Given the description of an element on the screen output the (x, y) to click on. 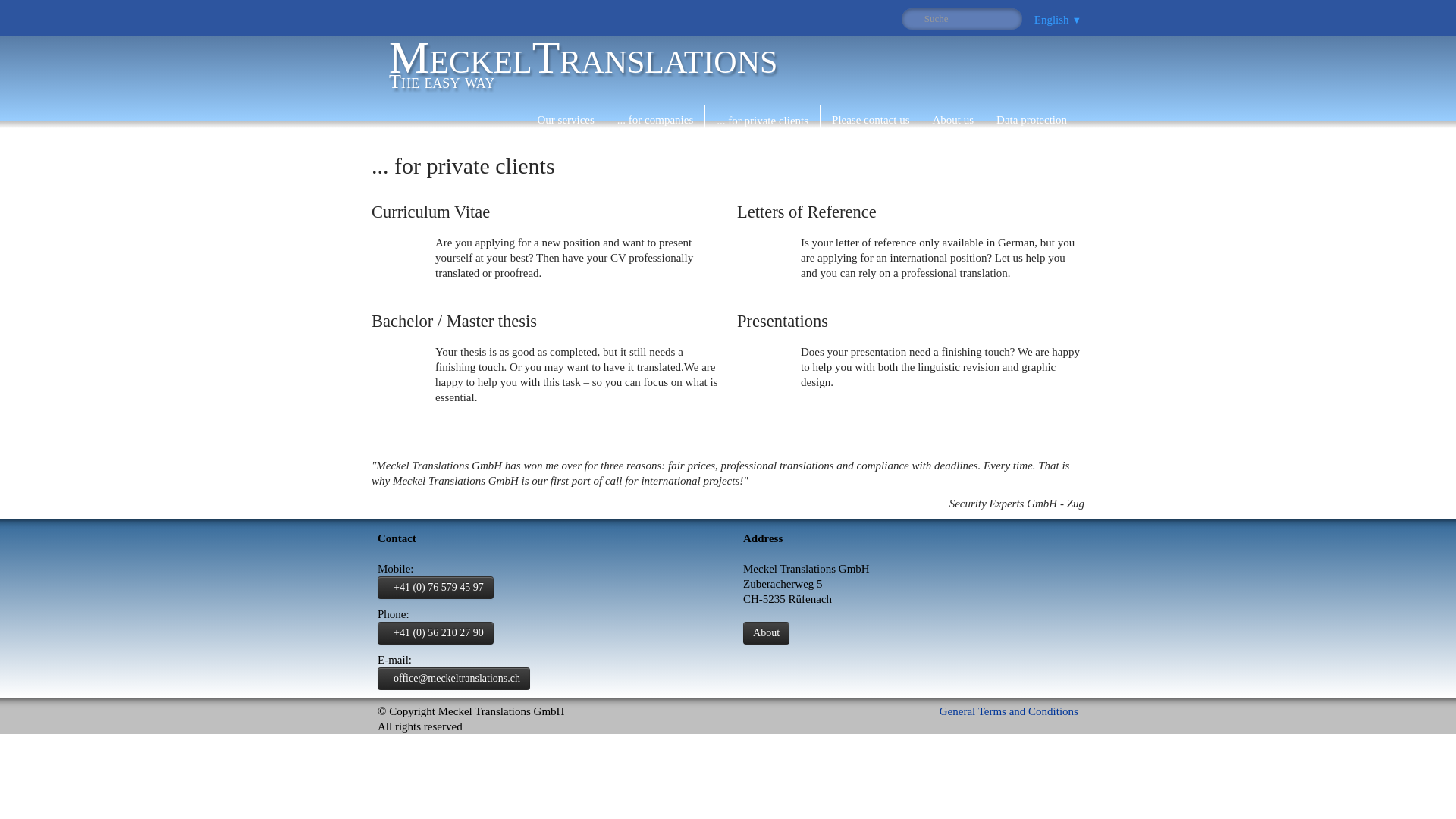
... for private clients (762, 120)
Data protection (1031, 119)
Please contact us (870, 119)
About (583, 67)
General Terms and Conditions (765, 632)
... for companies (1008, 711)
About us (654, 119)
Our services (953, 119)
